Given the description of an element on the screen output the (x, y) to click on. 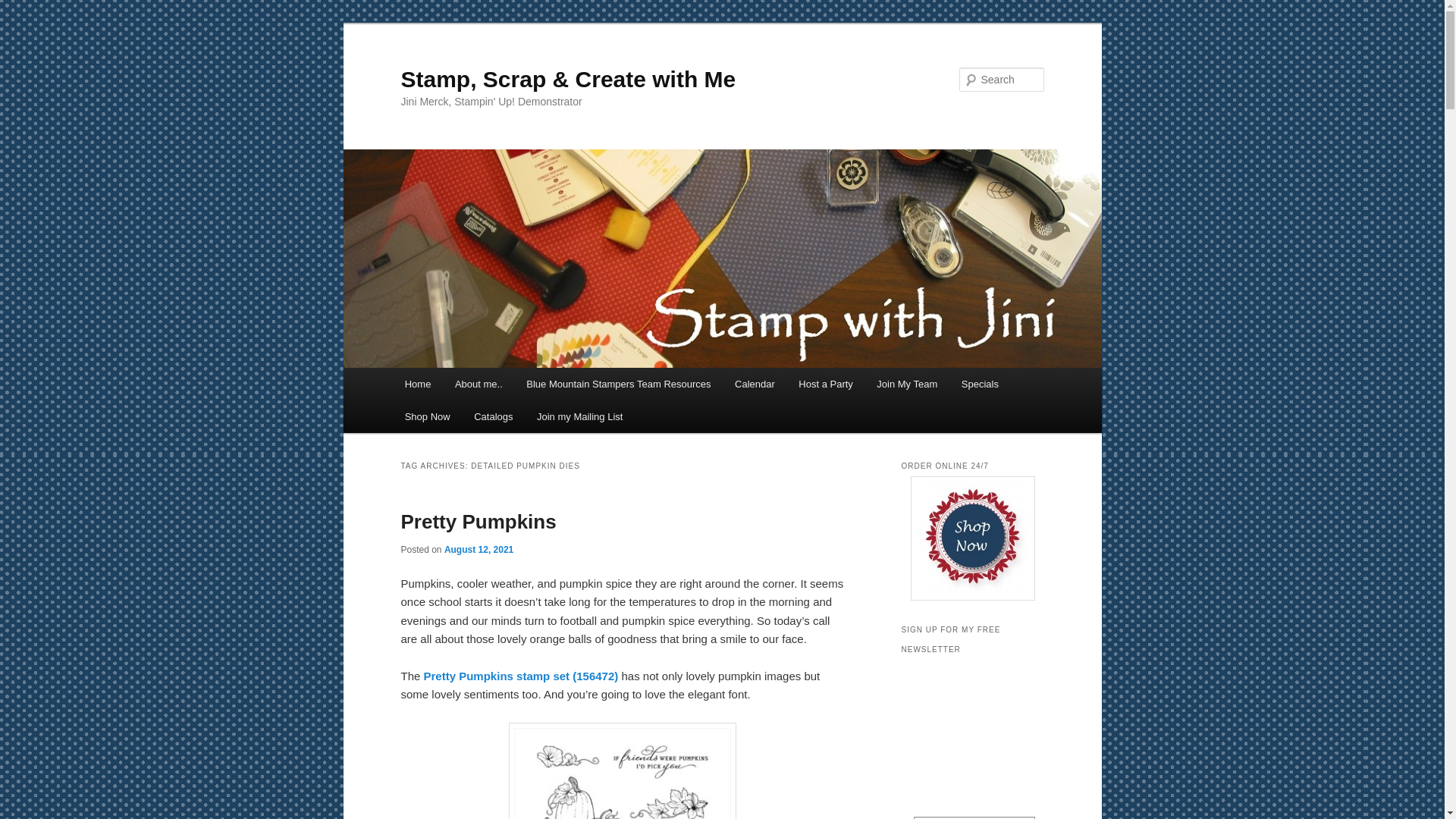
Join My Team (906, 383)
Join my Mailing List (579, 416)
Search (24, 8)
Shop Now (427, 416)
About me.. (477, 383)
Host a Party (825, 383)
Blue Mountain Stampers Team Resources (617, 383)
Specials (979, 383)
Home (417, 383)
Catalogs (492, 416)
7:42 am (478, 549)
August 12, 2021 (478, 549)
Calendar (754, 383)
Pretty Pumpkins (478, 521)
